Given the description of an element on the screen output the (x, y) to click on. 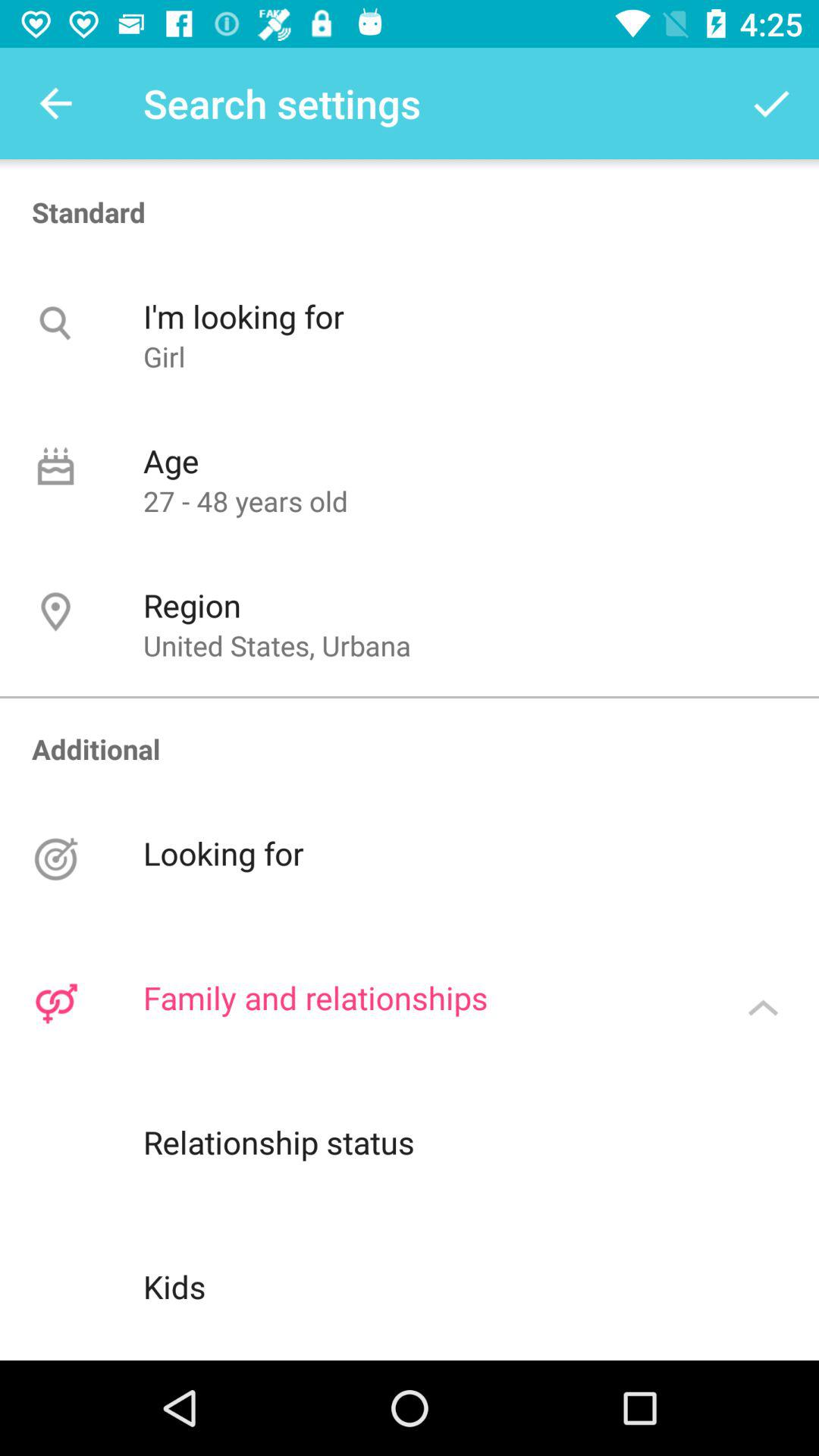
tap the app next to search settings icon (771, 103)
